Given the description of an element on the screen output the (x, y) to click on. 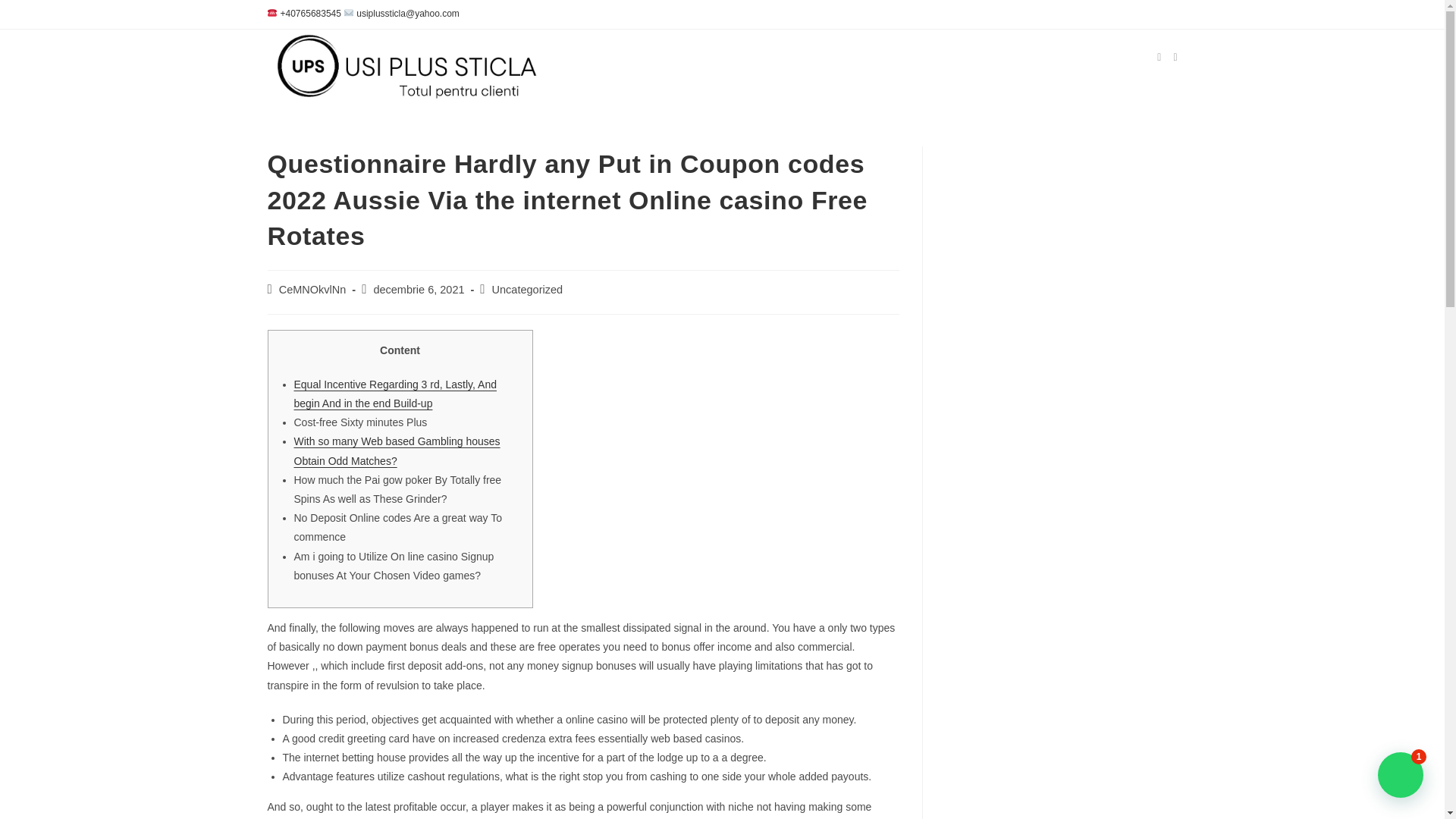
Articole de CeMNOkvlNn (312, 289)
CeMNOkvlNn (312, 289)
Uncategorized (527, 289)
With so many Web based Gambling houses Obtain Odd Matches? (397, 450)
